Given the description of an element on the screen output the (x, y) to click on. 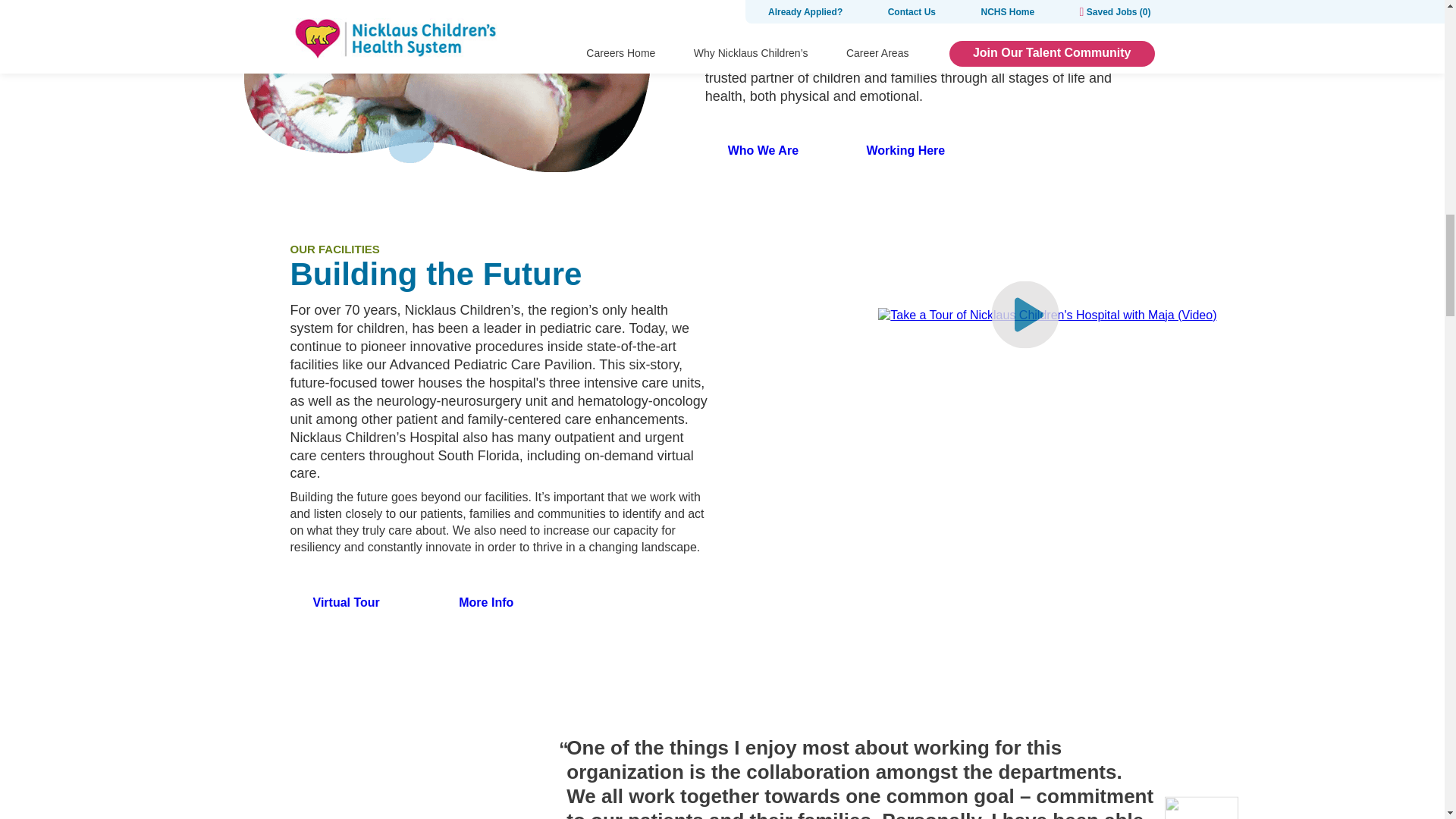
Who We Are (762, 150)
Virtual Tour (345, 602)
Working Here (905, 150)
